Given the description of an element on the screen output the (x, y) to click on. 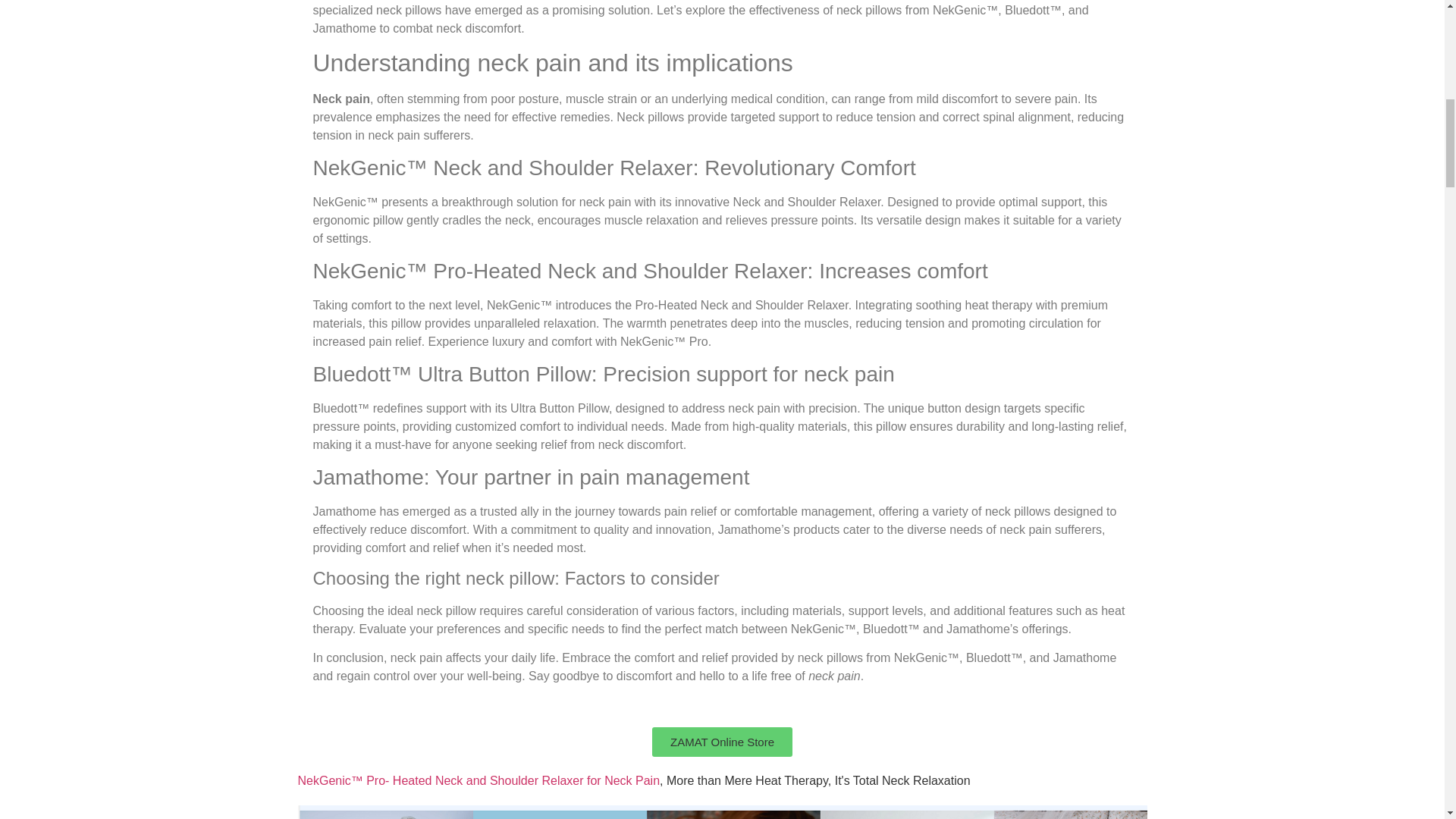
ZAMAT Online Store (722, 741)
Neck Pillow for Neck Pain 2 (722, 812)
